Given the description of an element on the screen output the (x, y) to click on. 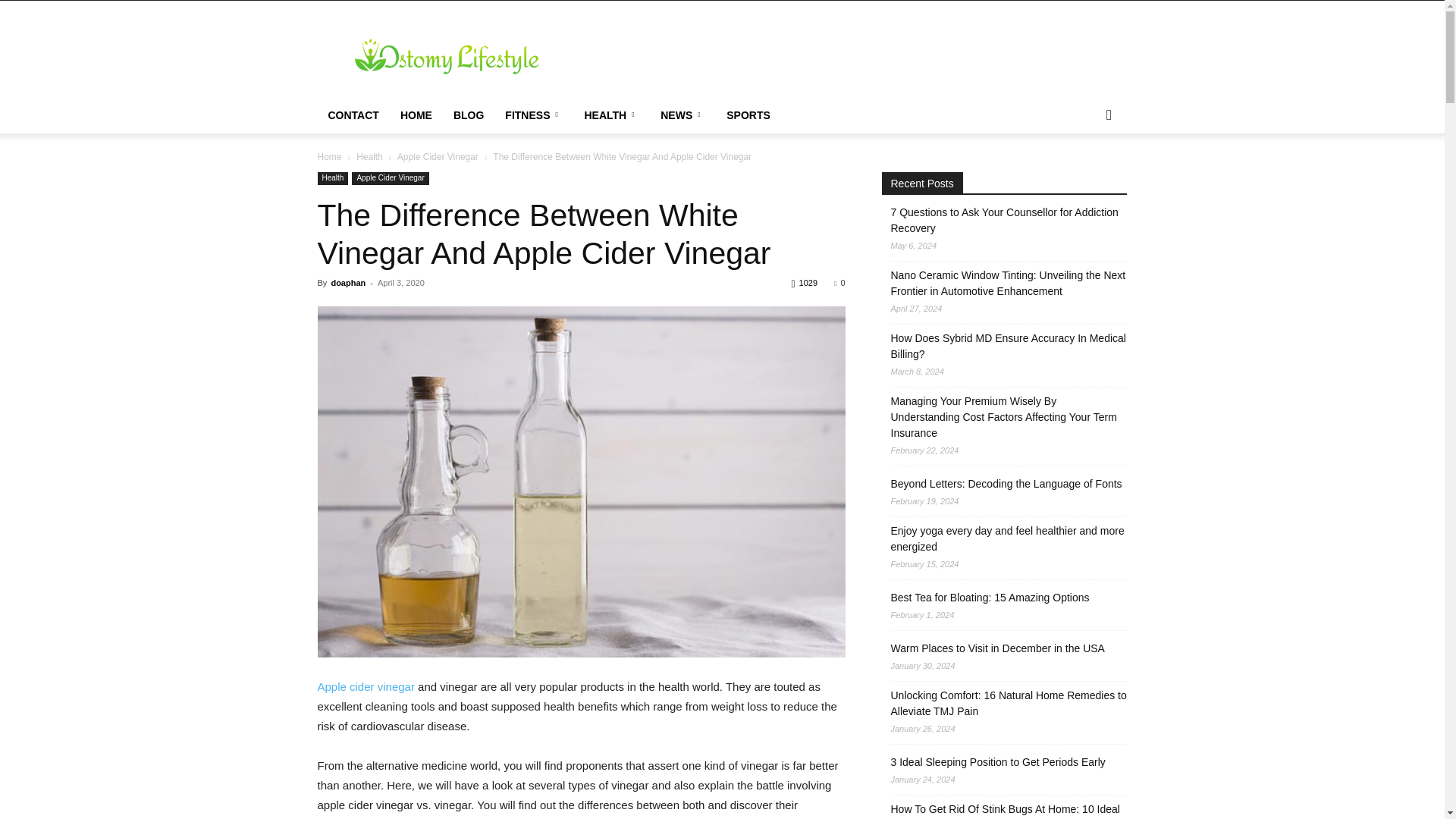
Home (328, 156)
NEWS (682, 115)
Health (332, 178)
View all posts in Health (369, 156)
Apple cider vinegar (365, 686)
Health (369, 156)
FITNESS (534, 115)
Apple Cider Vinegar (438, 156)
SPORTS (748, 115)
HEALTH (611, 115)
